Given the description of an element on the screen output the (x, y) to click on. 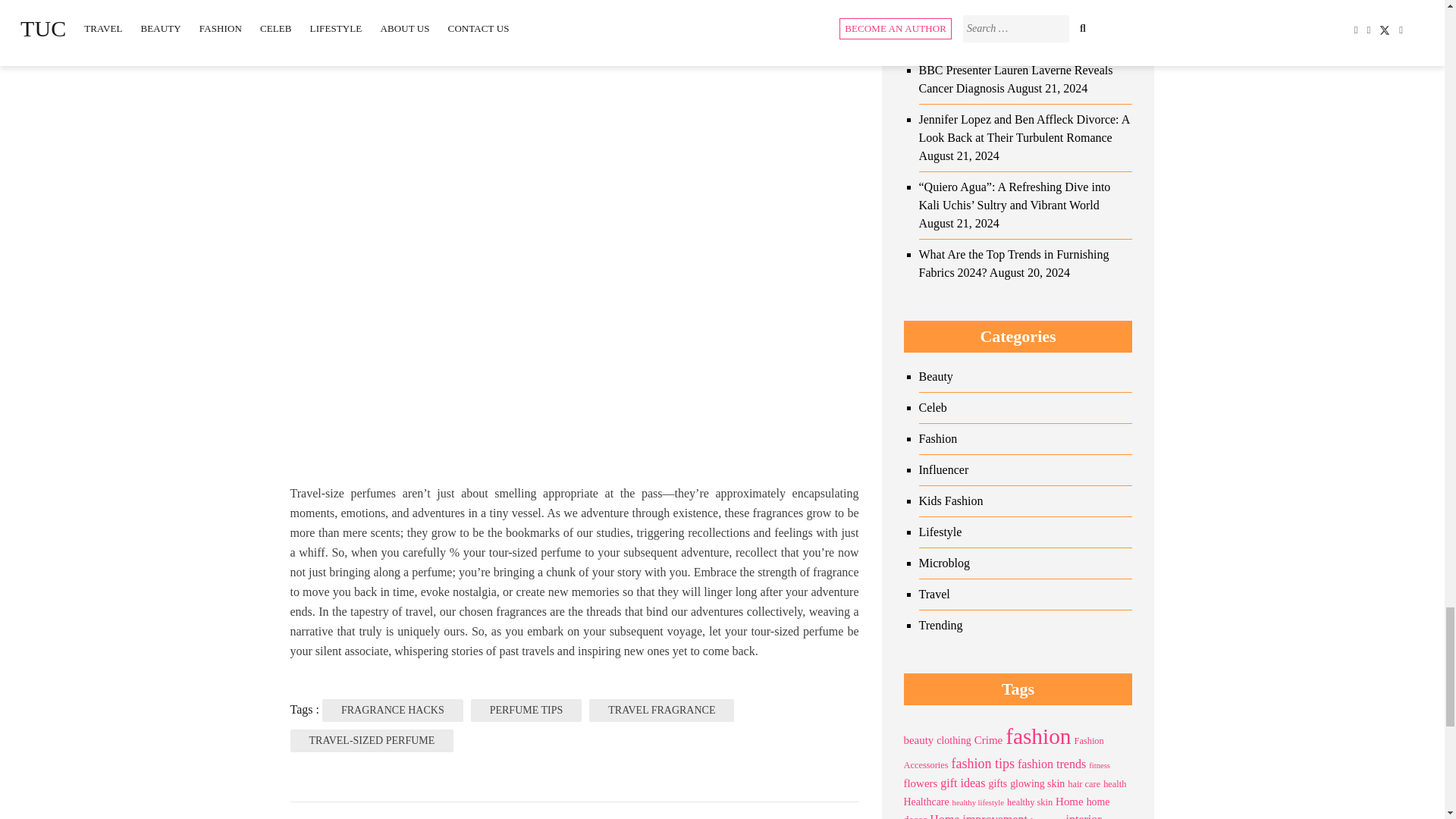
FRAGRANCE HACKS (392, 710)
TRAVEL FRAGRANCE (661, 710)
TRAVEL-SIZED PERFUME (370, 740)
PERFUME TIPS (526, 710)
